Given the description of an element on the screen output the (x, y) to click on. 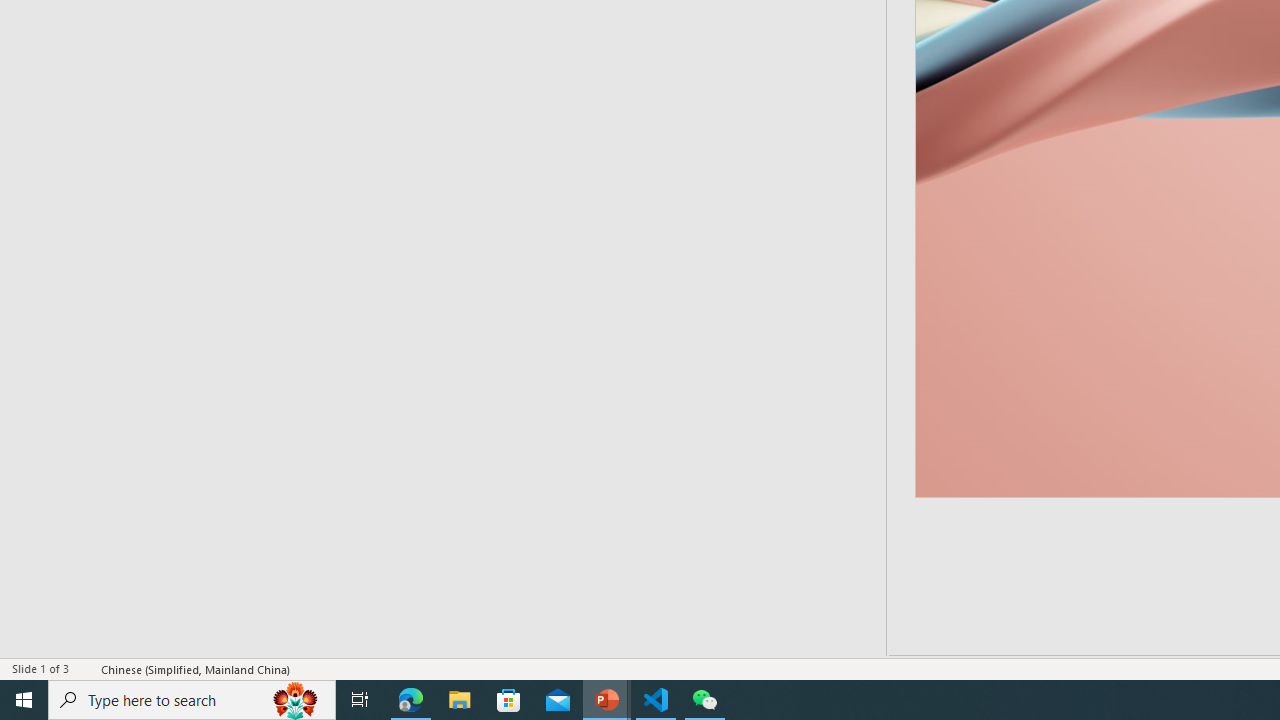
Spell Check  (86, 668)
